Given the description of an element on the screen output the (x, y) to click on. 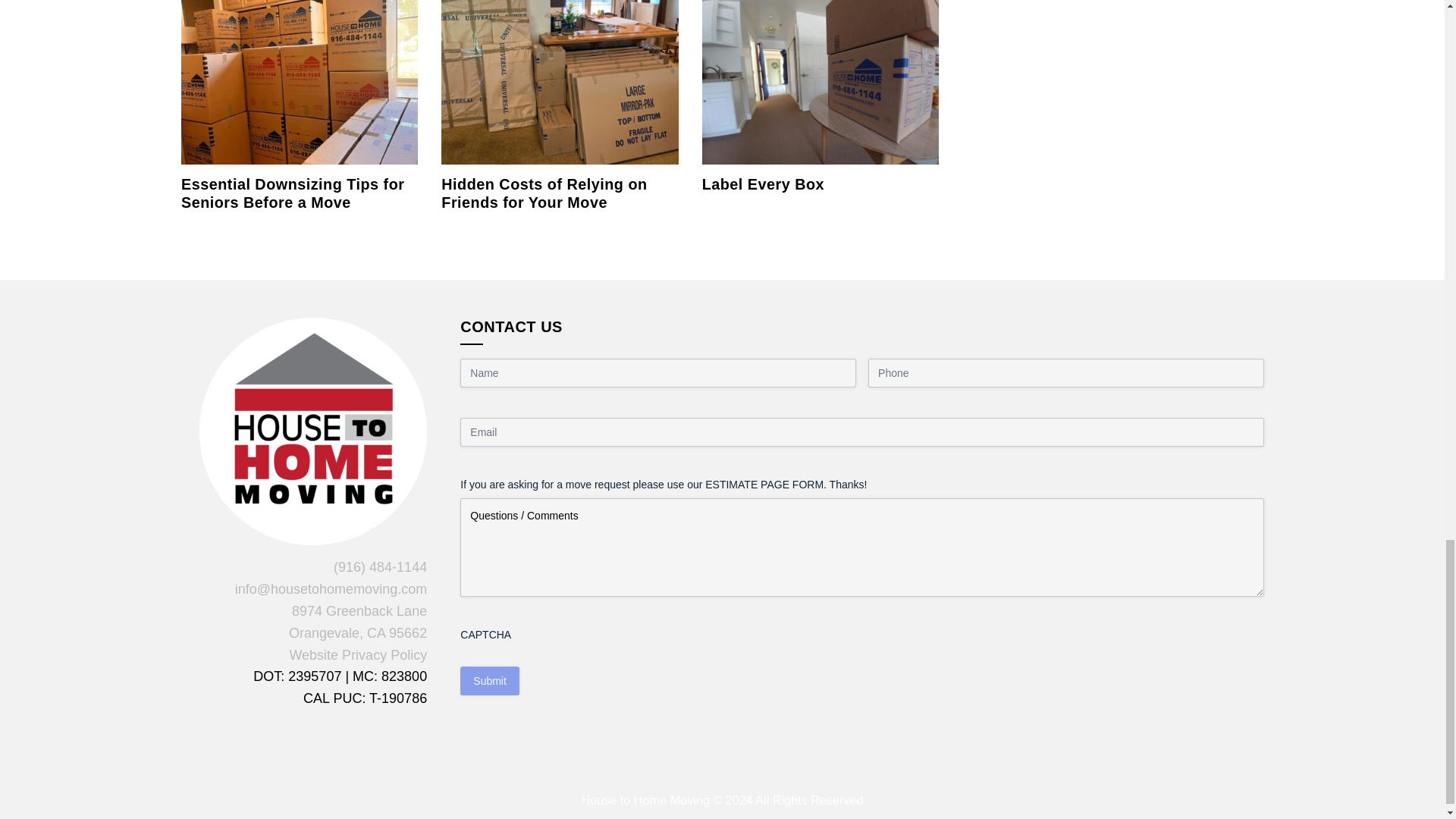
Hidden Costs of Relying on Friends for Your Move (543, 193)
Hidden Costs of Relying on Friends for Your Move (559, 79)
Essential Downsizing Tips for Seniors Before a Move (298, 79)
Submit (489, 680)
Essential Downsizing Tips for Seniors Before a Move (292, 193)
Label Every Box (820, 79)
Label Every Box (762, 184)
